Given the description of an element on the screen output the (x, y) to click on. 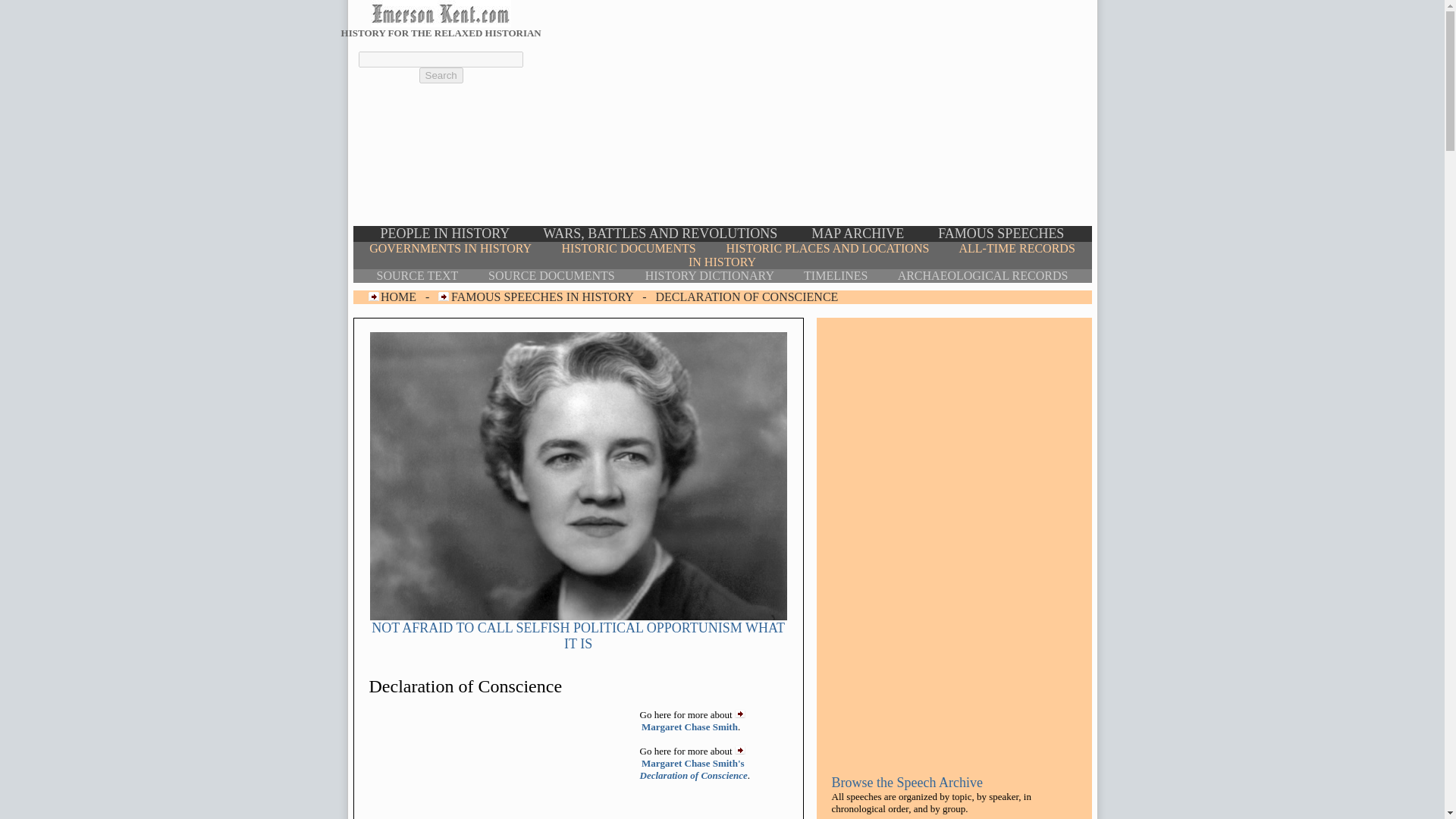
FAMOUS SPEECHES (1000, 233)
Search (441, 75)
ALL-TIME RECORDS IN HISTORY (881, 254)
SOURCE DOCUMENTS (550, 275)
Search (441, 75)
GOVERNMENTS IN HISTORY (450, 247)
Browse the Speech Archive (906, 782)
FAMOUS SPEECHES IN HISTORY (542, 296)
ARCHAEOLOGICAL RECORDS (983, 275)
HISTORIC DOCUMENTS (628, 247)
HISTORY FOR THE RELAXED HISTORIAN (440, 31)
Margaret Chase Smith's Declaration of Conscience (694, 769)
MAP ARCHIVE (857, 233)
HISTORY DICTIONARY (709, 275)
HISTORIC PLACES AND LOCATIONS (828, 247)
